Given the description of an element on the screen output the (x, y) to click on. 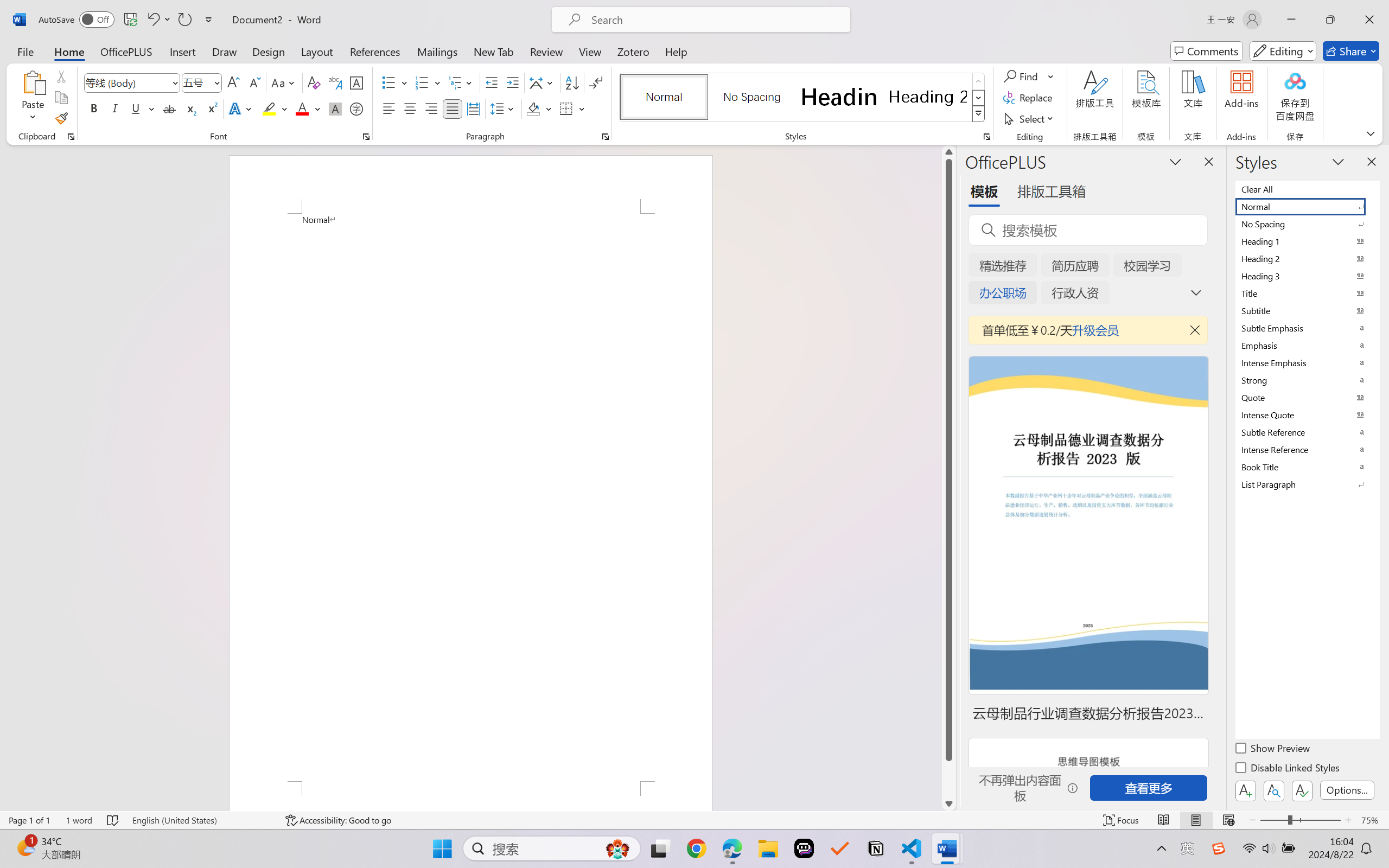
Paste (33, 81)
Zotero (632, 51)
Undo Apply Quick Style (158, 19)
Superscript (210, 108)
Office Clipboard... (70, 136)
View (589, 51)
Select (1030, 118)
Line and Paragraph Spacing (503, 108)
Styles... (986, 136)
Review (546, 51)
Emphasis (1306, 345)
Phonetic Guide... (334, 82)
Repeat Doc Close (184, 19)
